Given the description of an element on the screen output the (x, y) to click on. 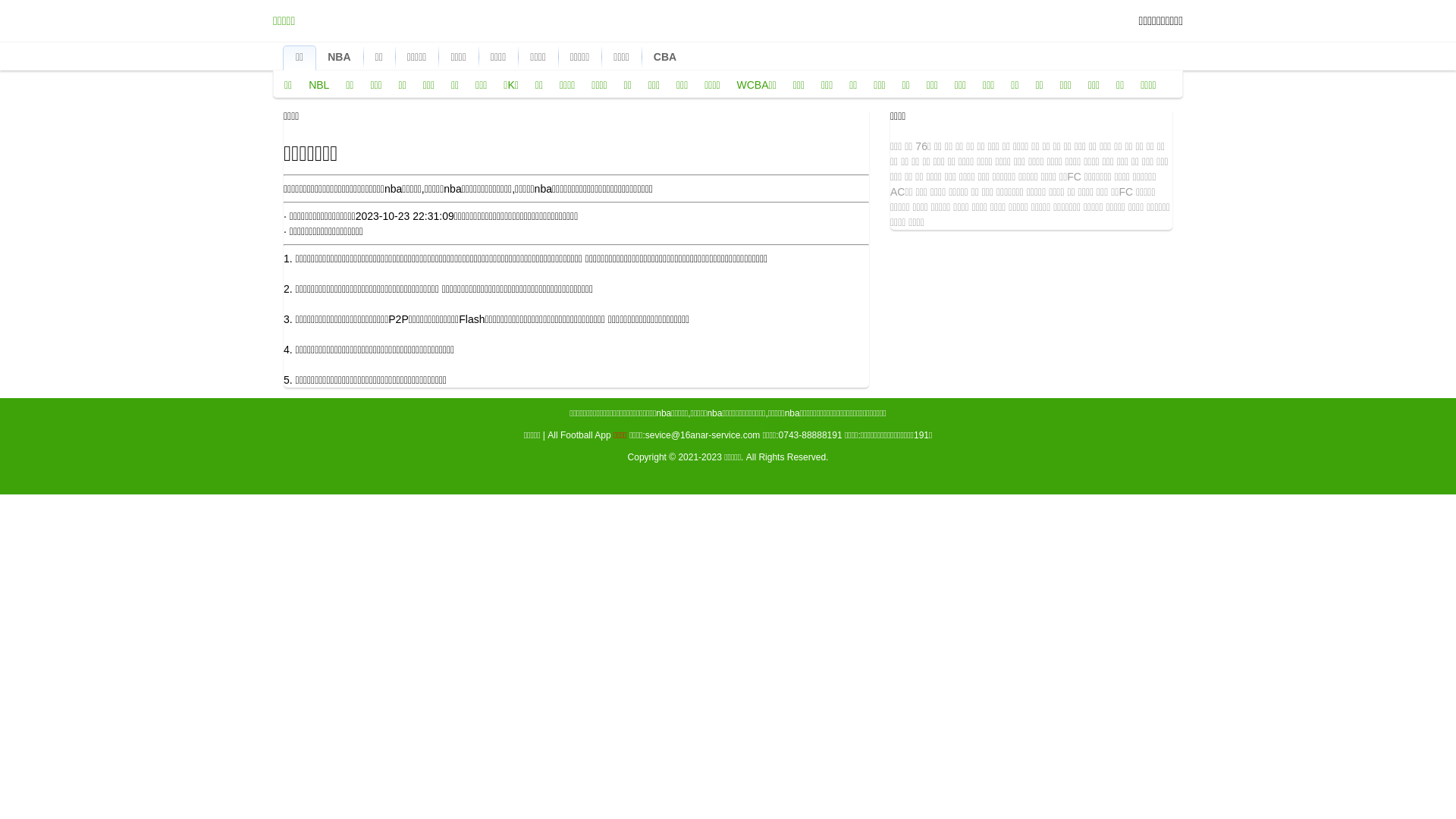
NBL Element type: text (318, 84)
CBA Element type: text (664, 56)
NBA Element type: text (338, 56)
